Given the description of an element on the screen output the (x, y) to click on. 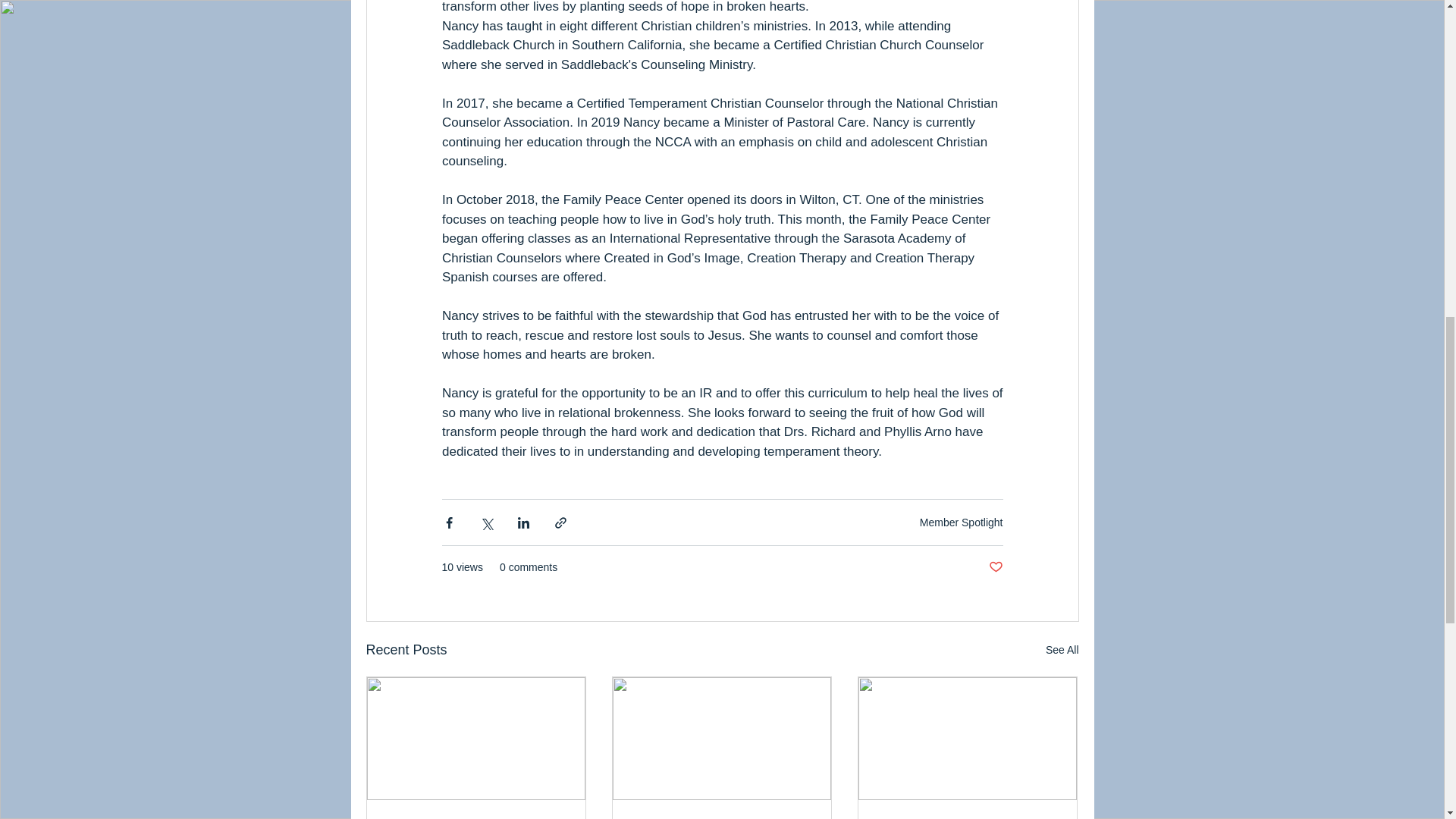
Post not marked as liked (995, 567)
Member Spotlight (961, 521)
See All (1061, 649)
